Given the description of an element on the screen output the (x, y) to click on. 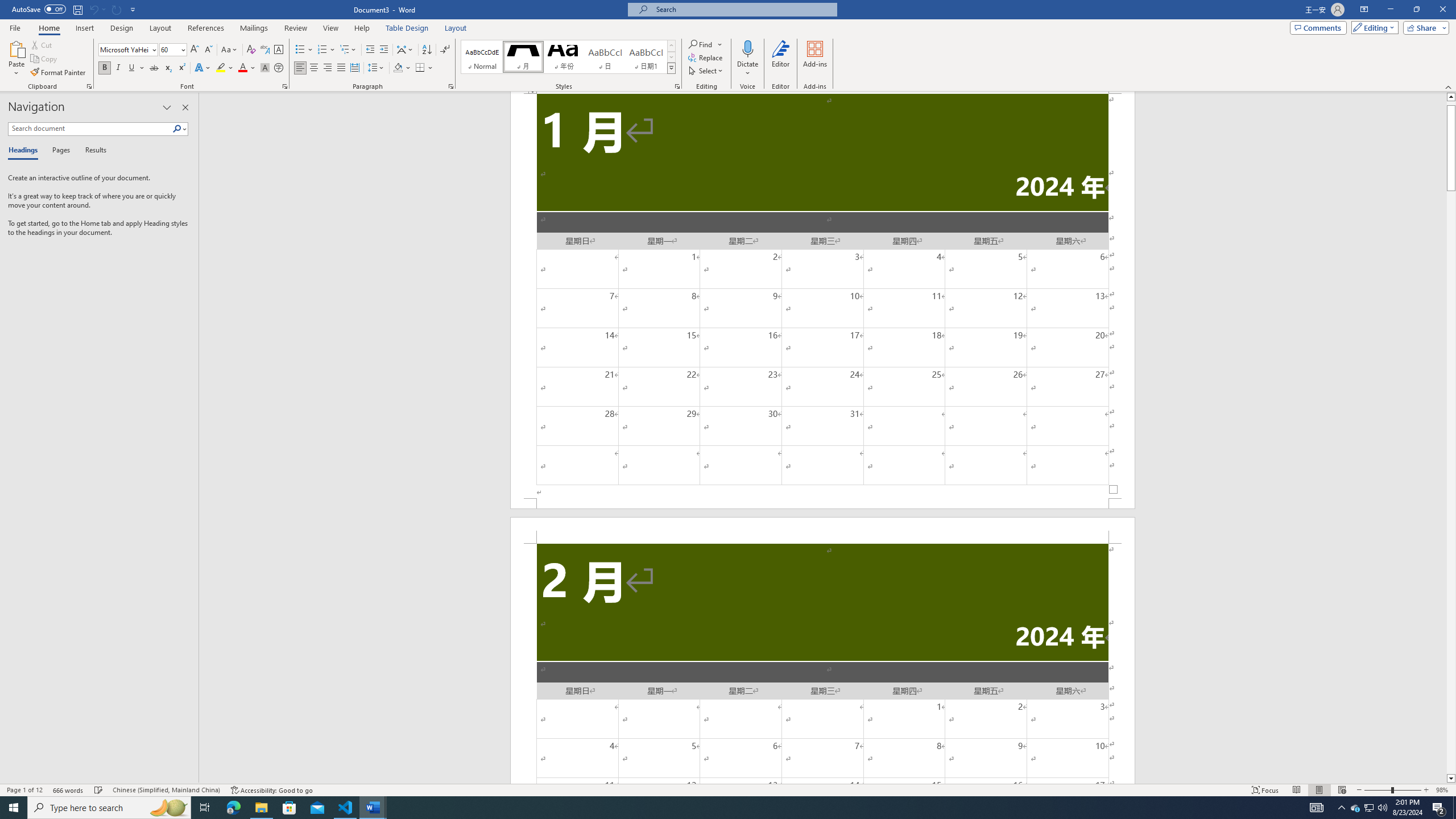
Can't Repeat (117, 9)
Line down (1450, 778)
